Given the description of an element on the screen output the (x, y) to click on. 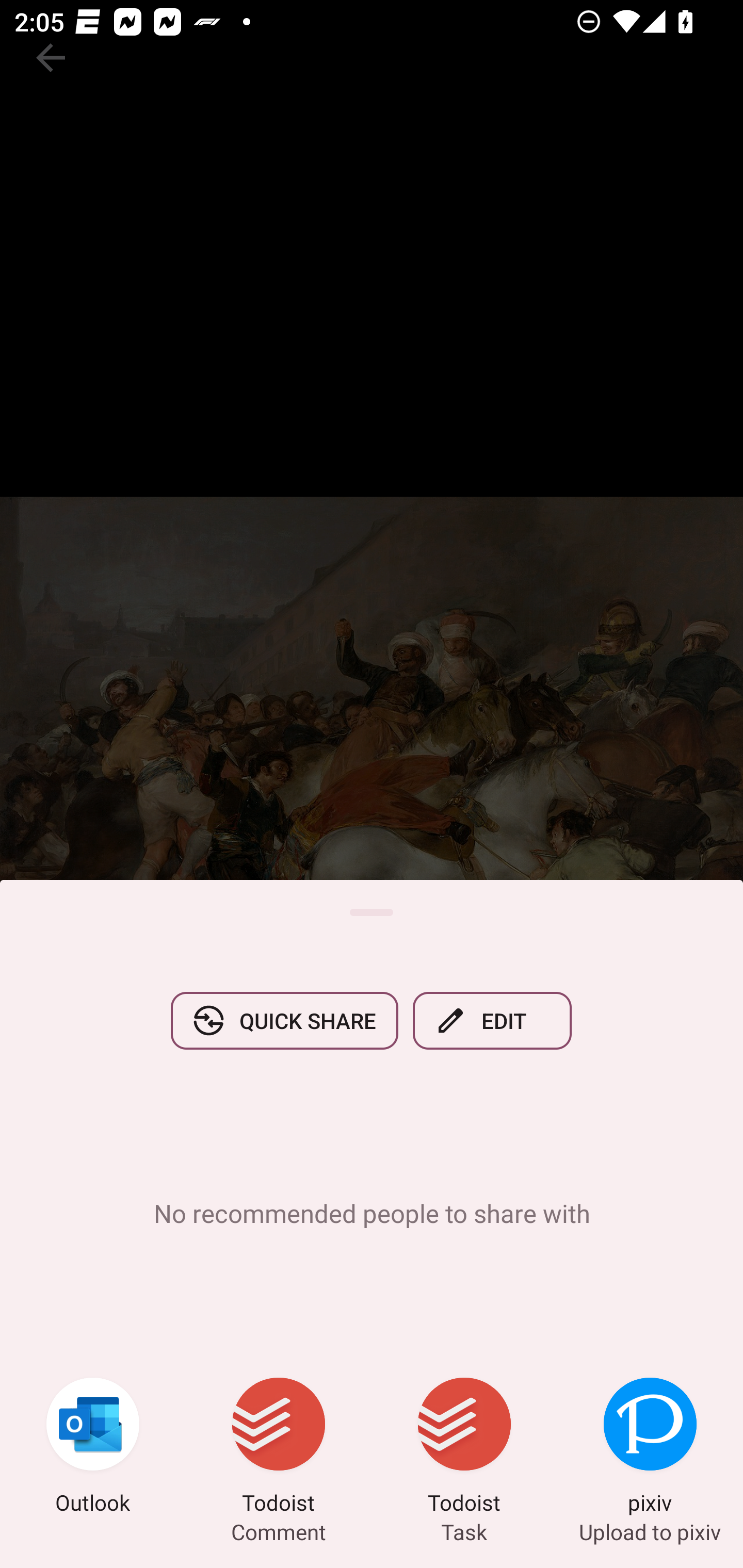
QUICK SHARE (284, 1020)
EDIT (492, 1020)
Outlook (92, 1448)
Todoist Comment (278, 1448)
Todoist Task (464, 1448)
pixiv Upload to pixiv (650, 1448)
